Given the description of an element on the screen output the (x, y) to click on. 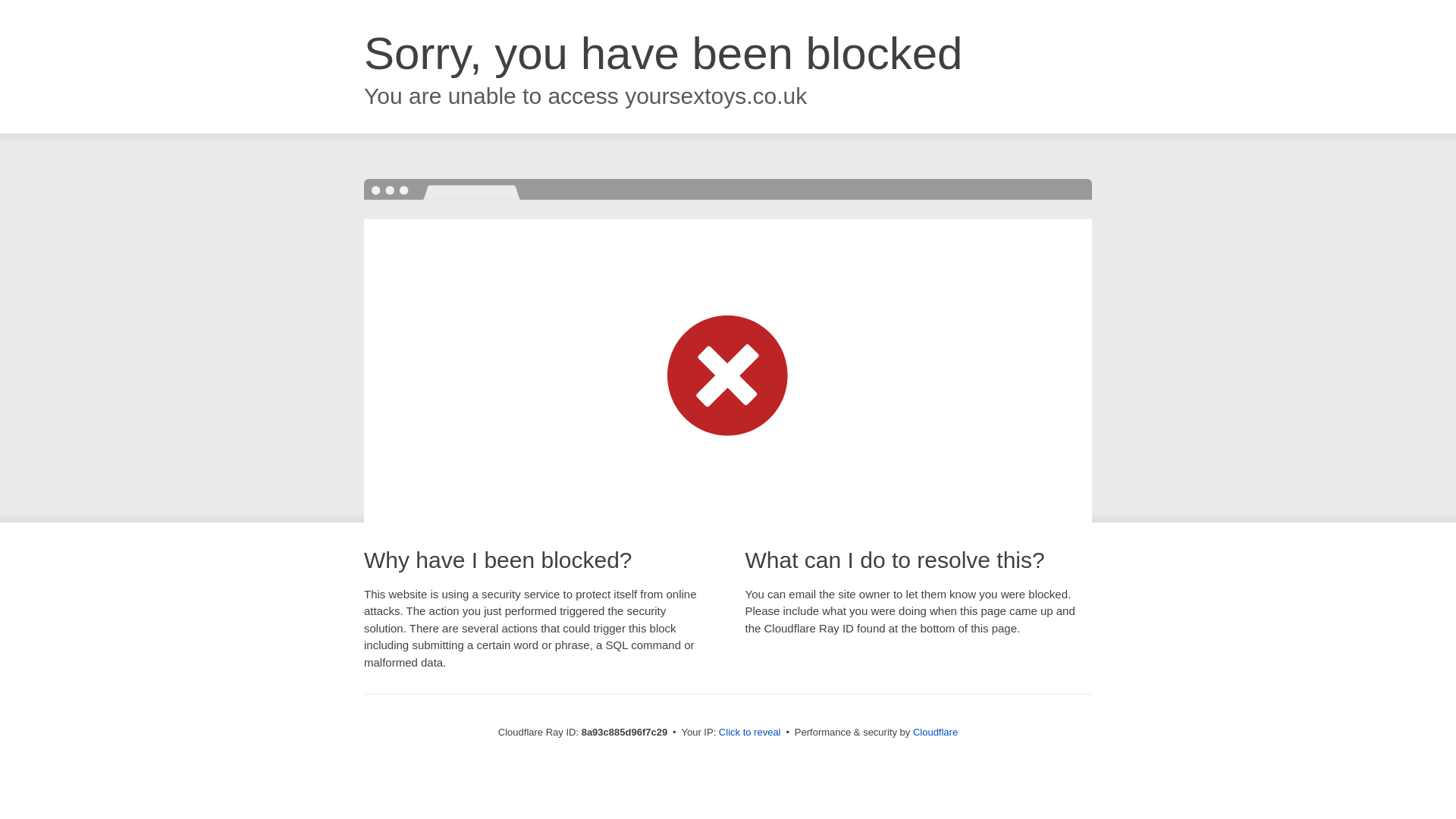
Click to reveal (749, 732)
Cloudflare (935, 731)
